Given the description of an element on the screen output the (x, y) to click on. 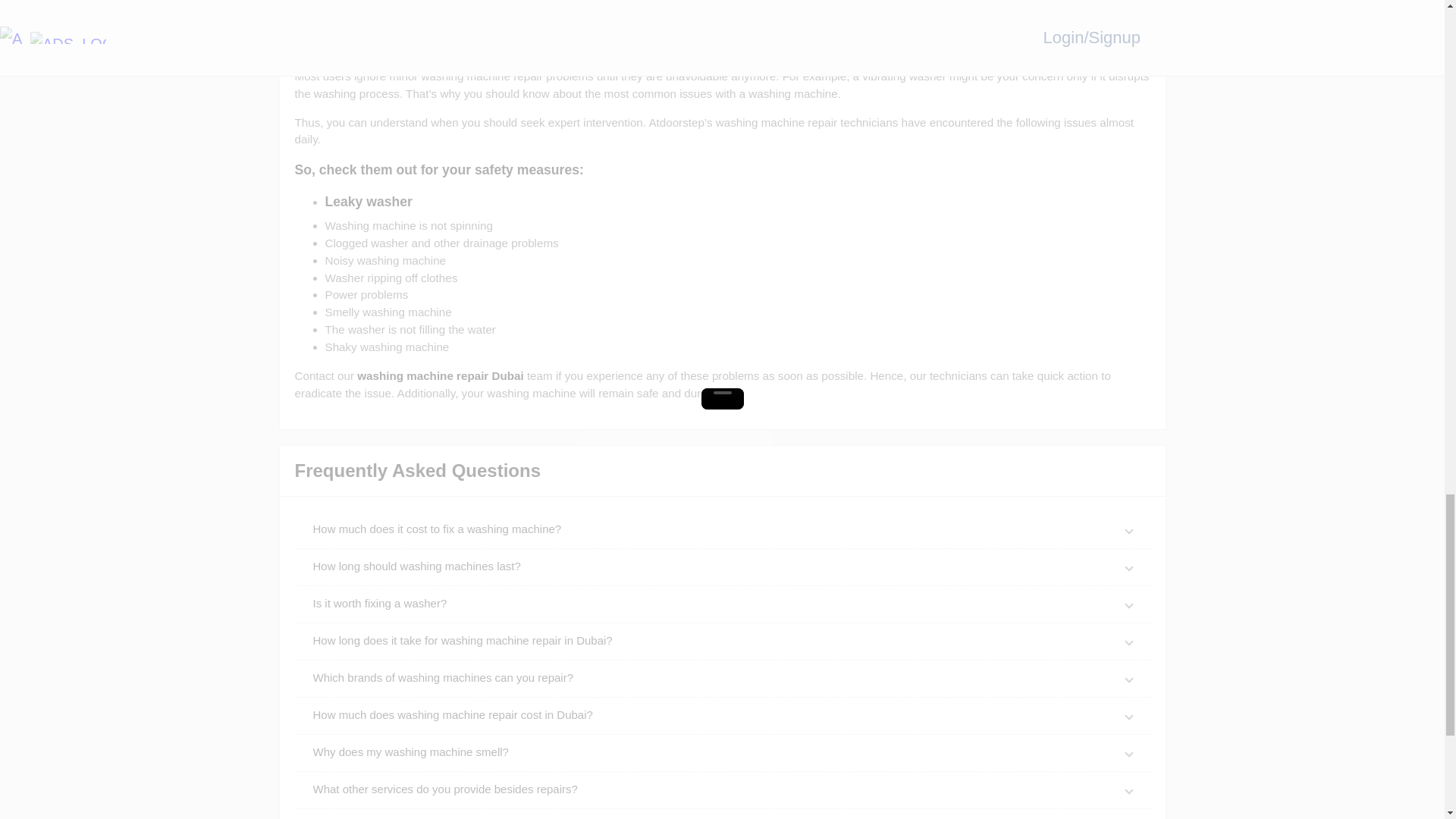
washing machine repair Dubai (439, 375)
